Given the description of an element on the screen output the (x, y) to click on. 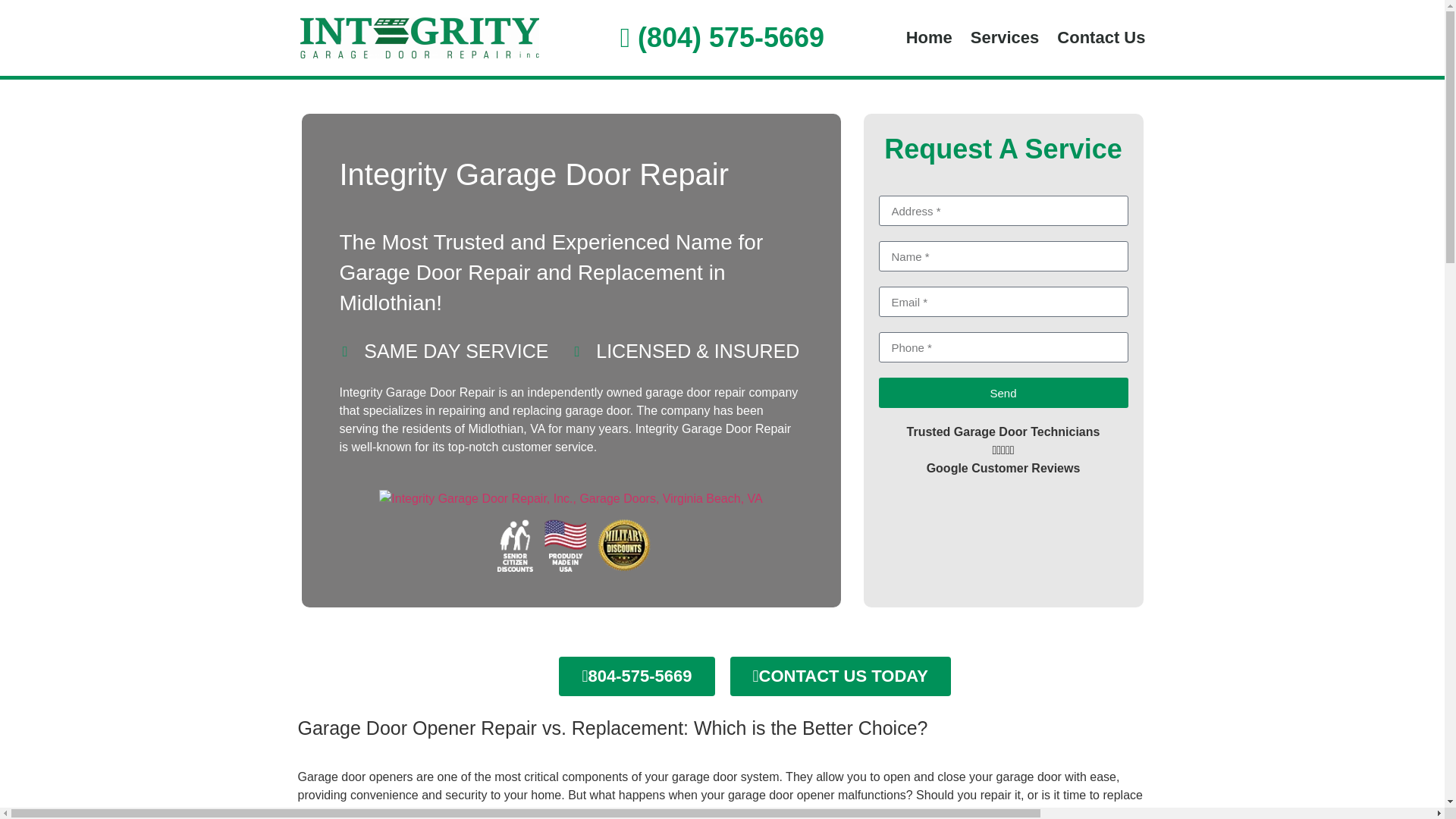
Services (1004, 38)
Send (1001, 392)
integrity garage door repair 90501878 (569, 498)
Contact Us (1101, 38)
CONTACT US TODAY (839, 676)
804-575-5669 (636, 676)
Discounts (570, 539)
